Given the description of an element on the screen output the (x, y) to click on. 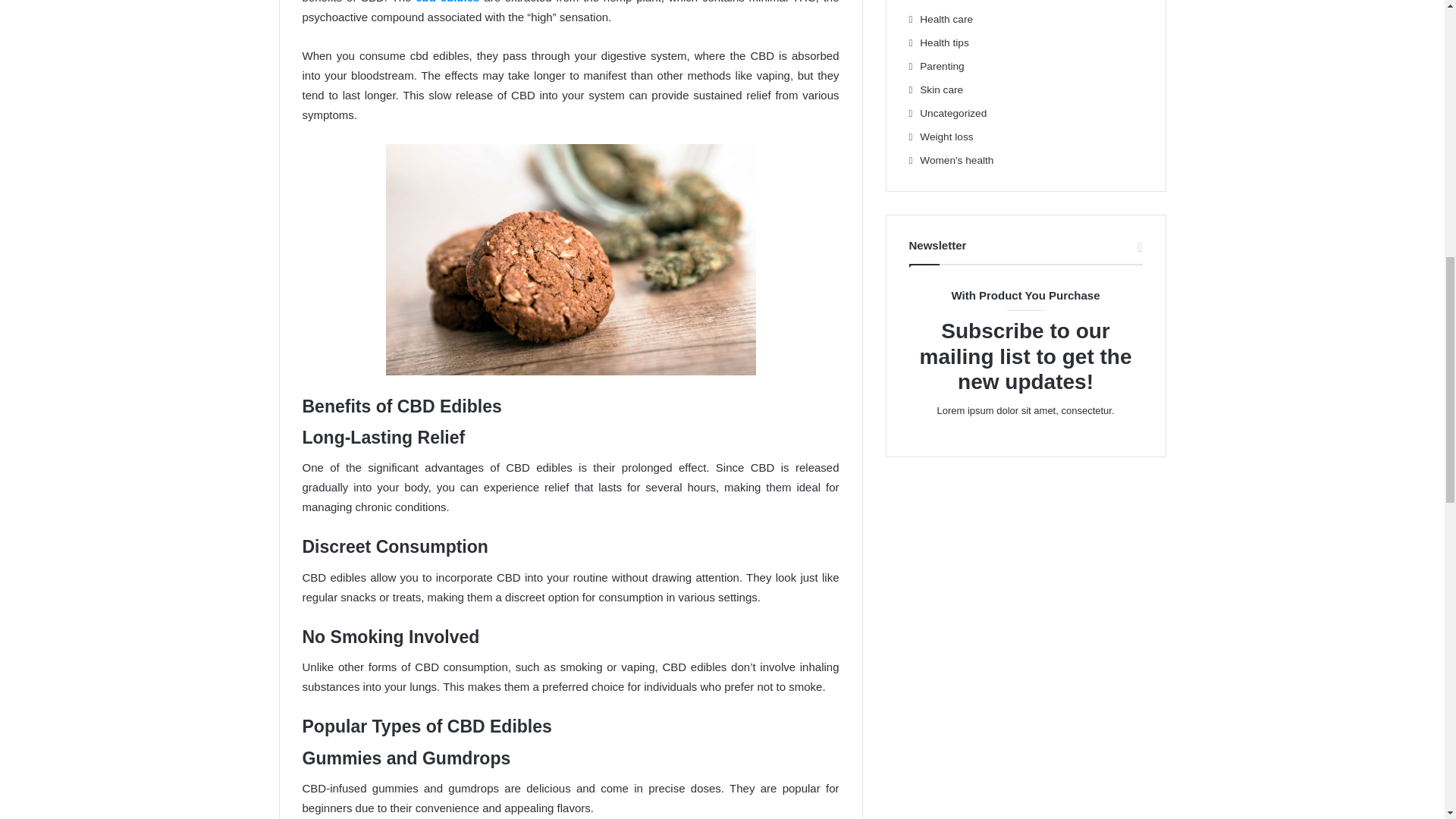
cbd edibles (446, 2)
